Given the description of an element on the screen output the (x, y) to click on. 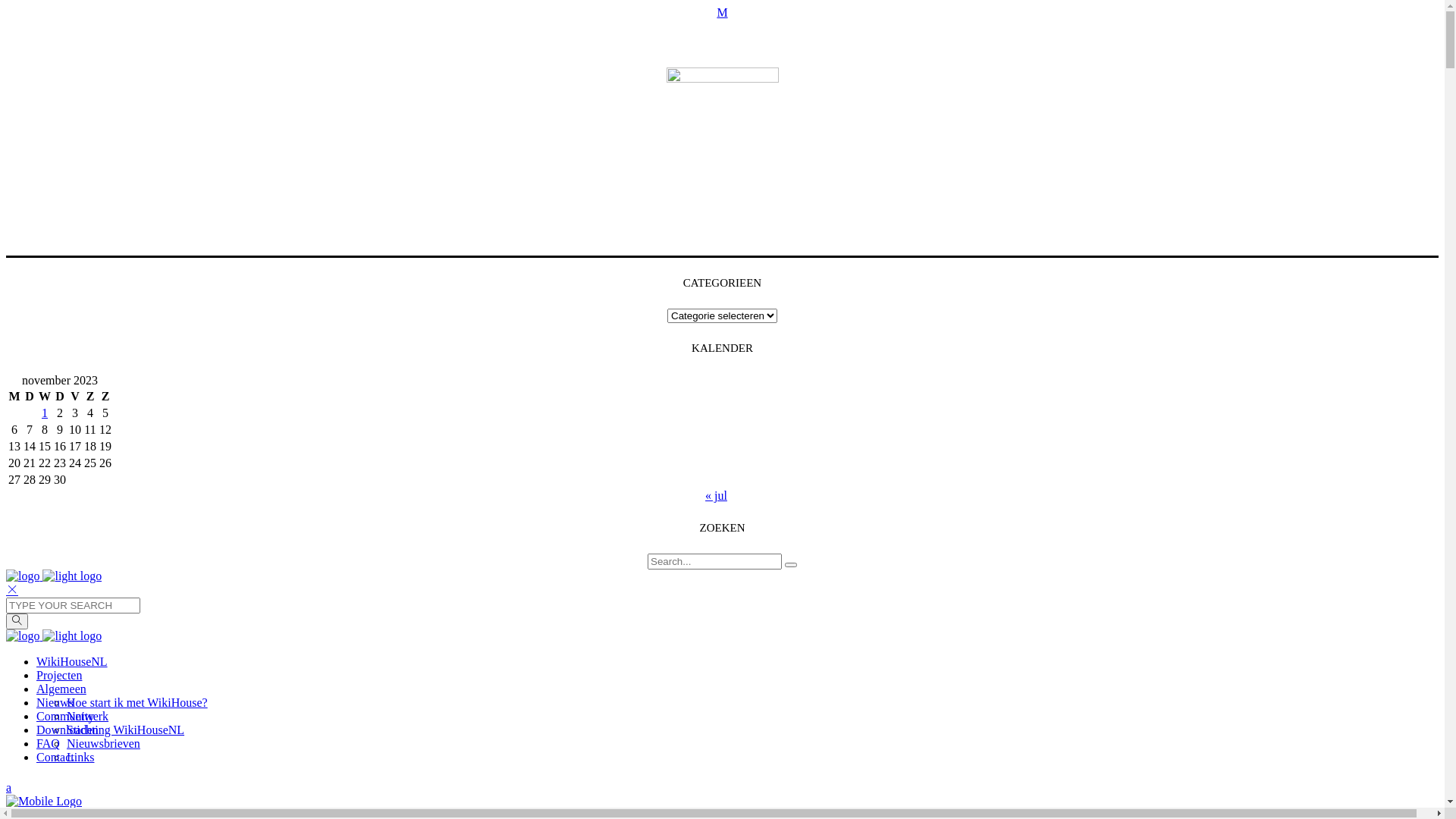
Stichting WikiHouseNL Element type: text (125, 729)
Hoe start ik met WikiHouse? Element type: text (136, 702)
Downloaden Element type: text (67, 729)
Netwerk Element type: text (87, 715)
Nieuws Element type: text (54, 702)
WikiHouseNL Element type: text (71, 661)
1 Element type: text (44, 412)
Algemeen Element type: text (61, 688)
Search for: Element type: hover (714, 561)
Projecten Element type: text (58, 674)
Links Element type: text (80, 756)
Nieuwsbrieven Element type: text (103, 743)
FAQ Element type: text (47, 743)
Contact Element type: text (55, 756)
Community Element type: text (65, 715)
